Given the description of an element on the screen output the (x, y) to click on. 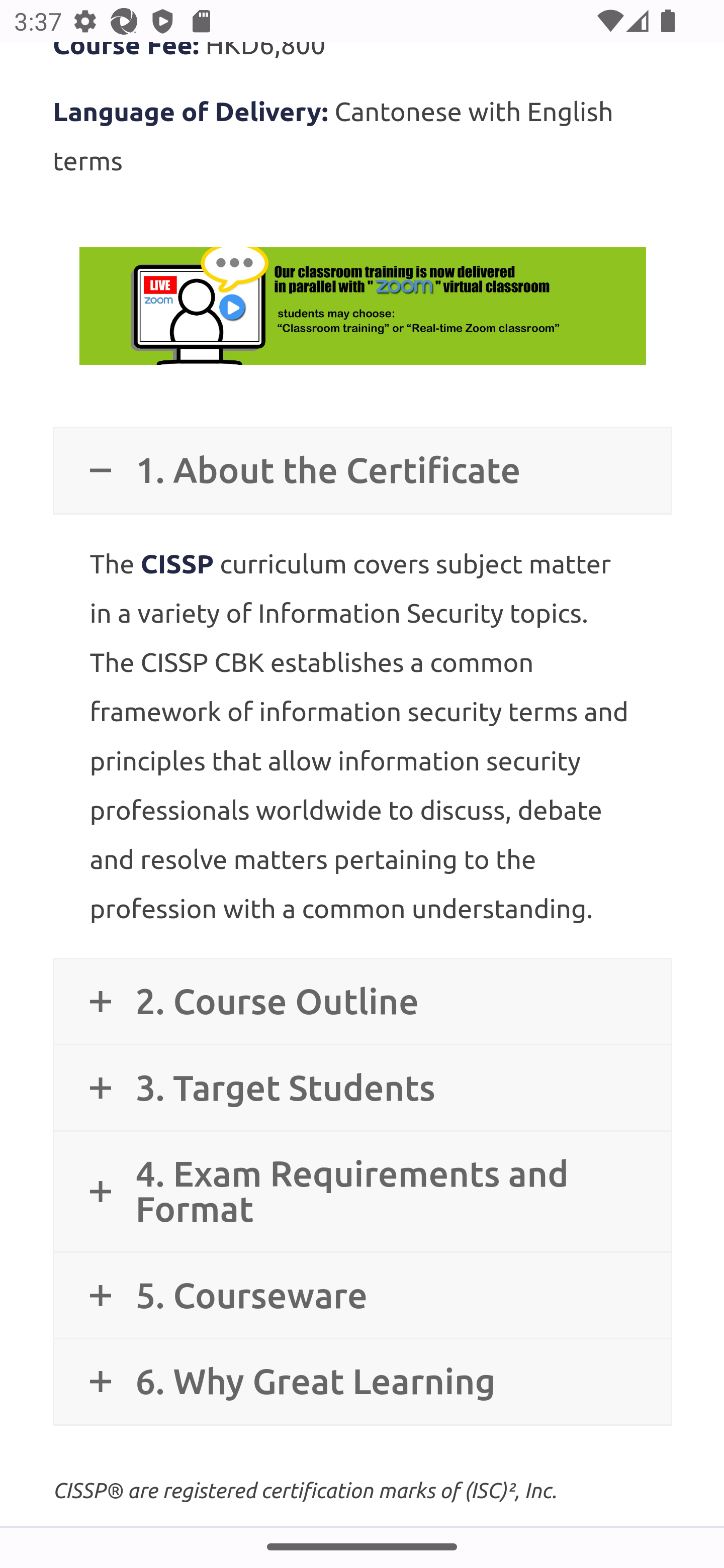
5. Courseware 5. Courseware 5. Courseware (361, 1295)
